Given the description of an element on the screen output the (x, y) to click on. 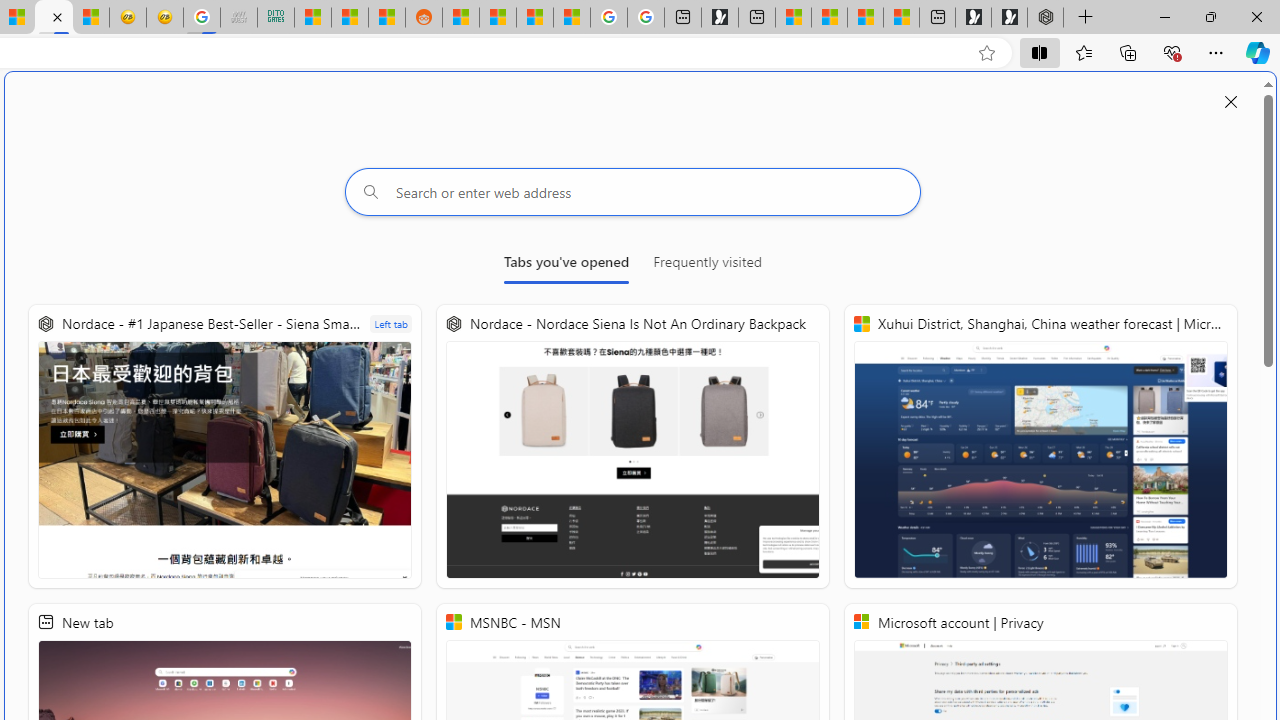
Nordace - Nordace Siena Is Not An Ordinary Backpack (632, 446)
DITOGAMES AG Imprint (276, 17)
These 3 Stocks Pay You More Than 5% to Own Them (901, 17)
Browser essentials (1171, 52)
Favorites (1083, 52)
Restore (1210, 16)
Nordace - #1 Japanese Best-Seller - Siena Smart Backpack (225, 446)
Copilot (Ctrl+Shift+.) (1258, 52)
New split screen (53, 17)
Microsoft Start (865, 17)
Search or enter web address (633, 191)
Nordace - Nordace Siena Is Not An Ordinary Backpack (1045, 17)
Minimize (1164, 16)
Close split screen (1231, 102)
